Given the description of an element on the screen output the (x, y) to click on. 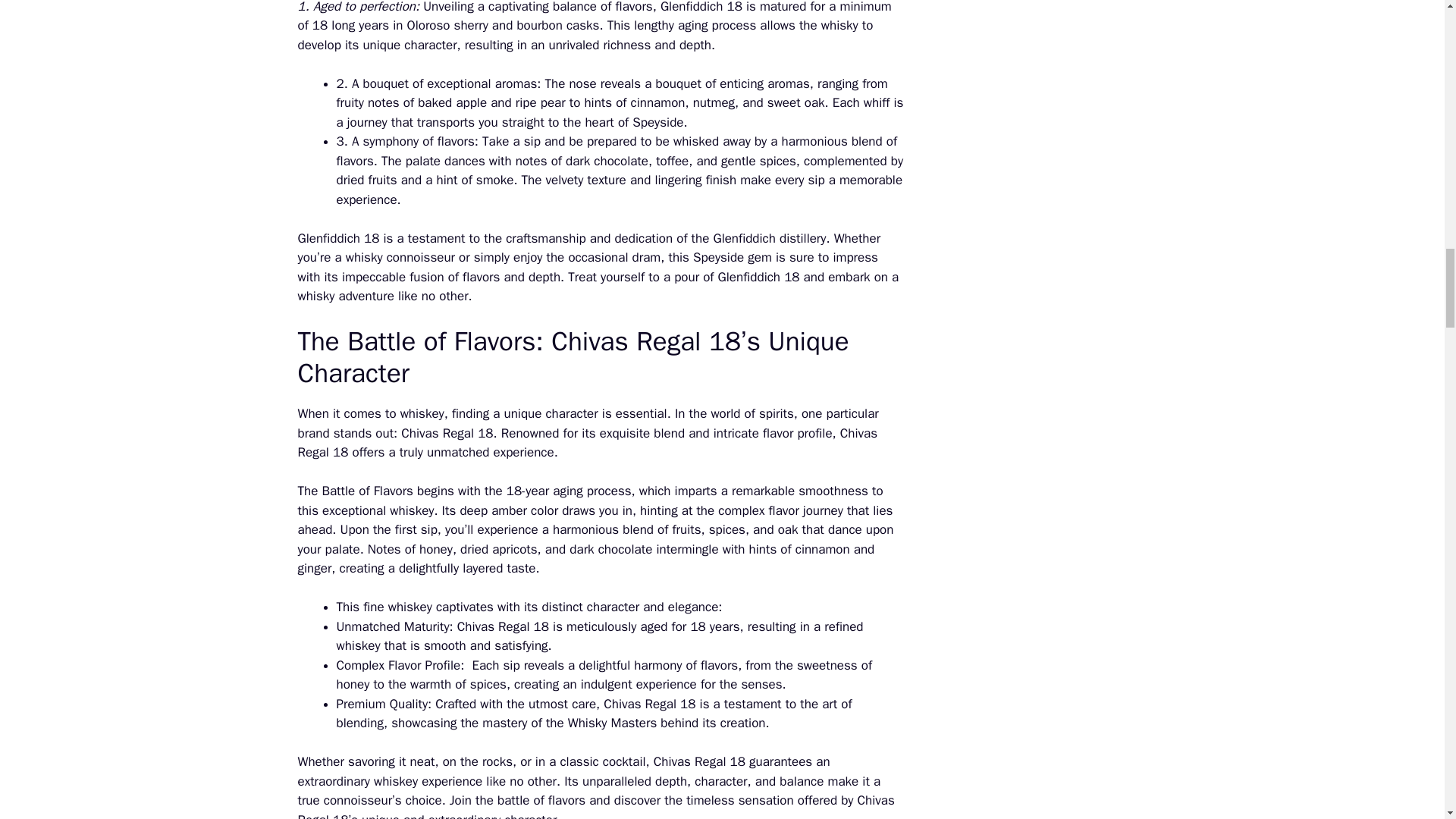
Investment-Worthy Picks: Top 11 Whiskeys to Consider (527, 510)
deep amber color draws (527, 510)
